Given the description of an element on the screen output the (x, y) to click on. 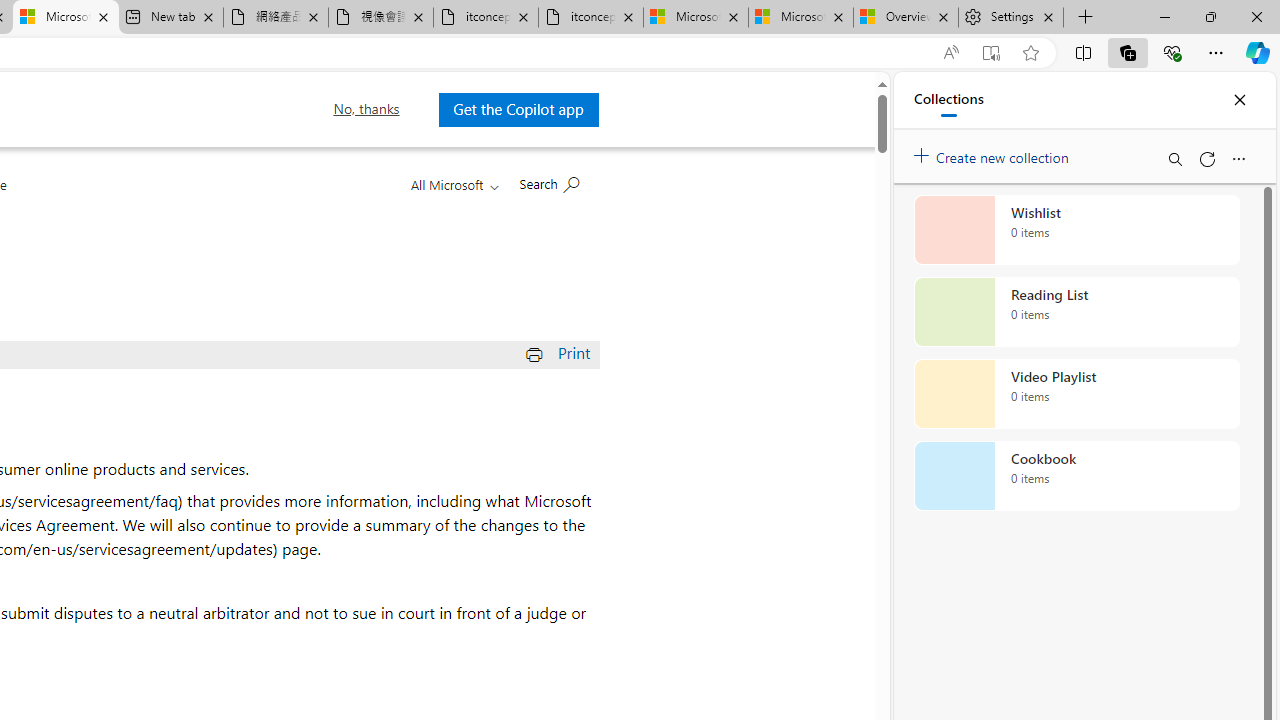
Reading List collection, 0 items (1076, 312)
itconcepthk.com/projector_solutions.mp4 (590, 17)
Create new collection (994, 153)
No, thanks (366, 109)
